Given the description of an element on the screen output the (x, y) to click on. 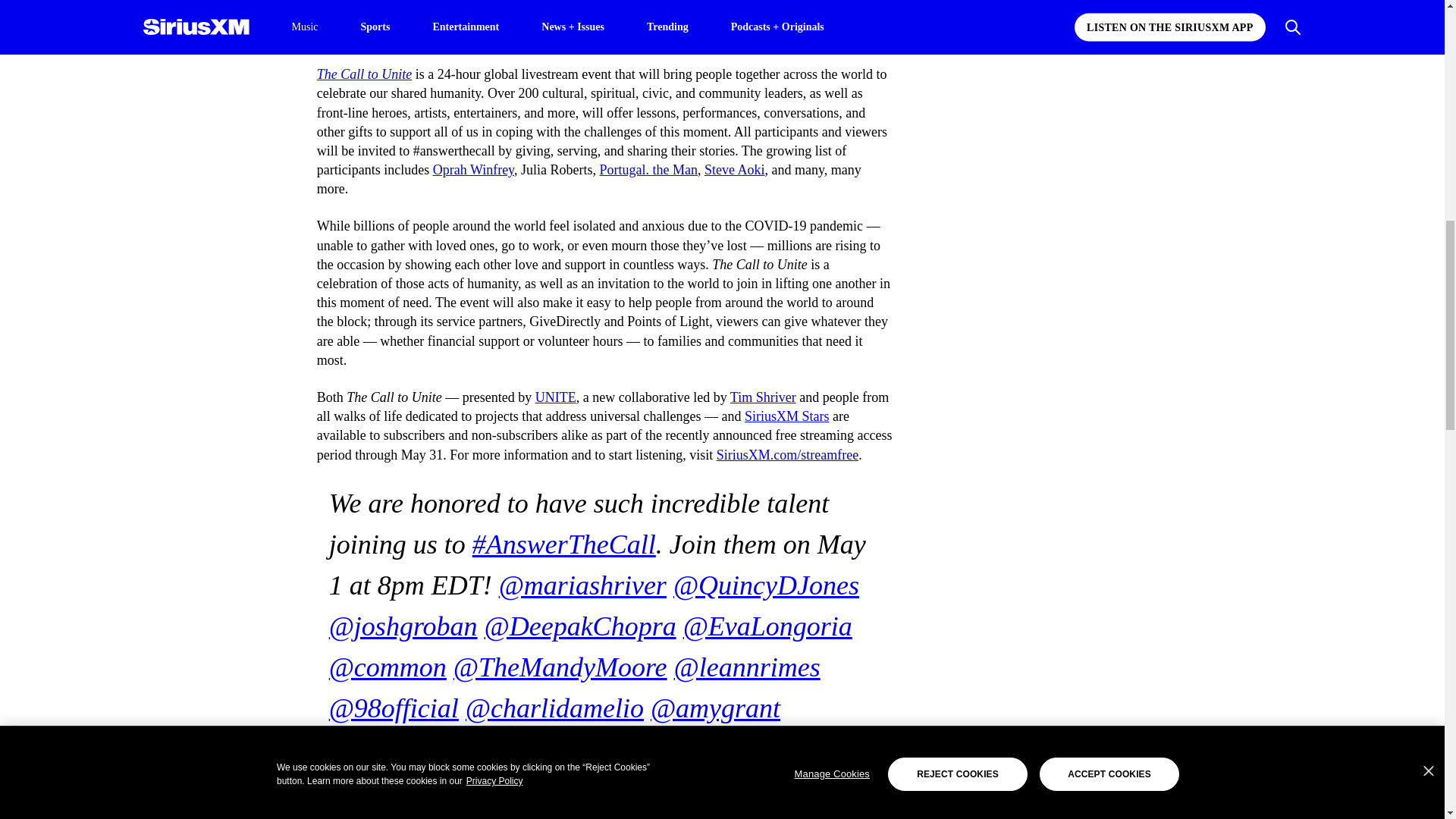
SiriusXM Stars (786, 416)
Steve Aoki (734, 169)
Portugal. the Man (647, 169)
The Call to Unite (364, 73)
UNITE (555, 396)
Oprah Winfrey (472, 169)
Tim Shriver (763, 396)
